Given the description of an element on the screen output the (x, y) to click on. 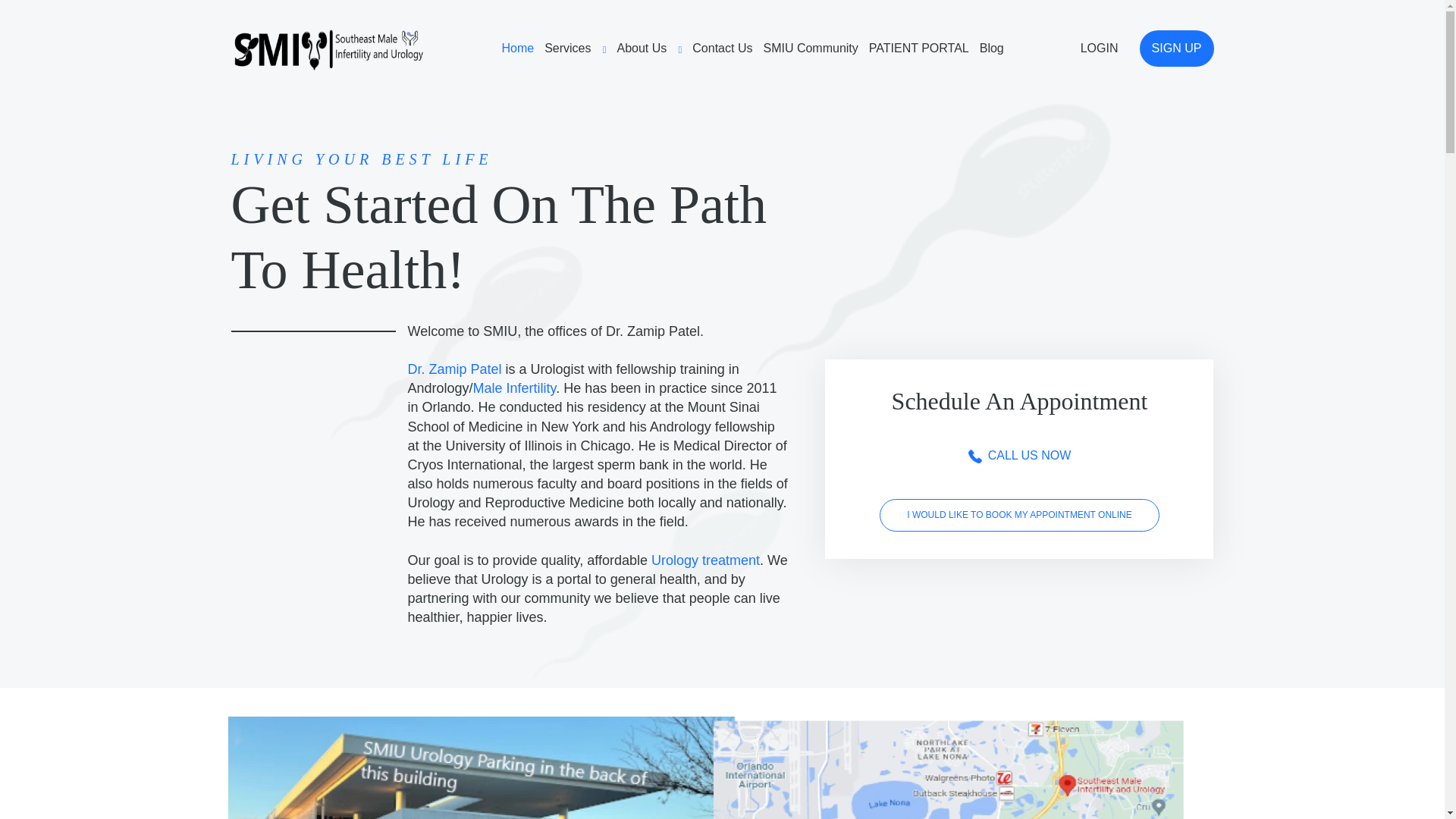
Services (574, 47)
SMIU Community (809, 47)
Urology treatment (705, 560)
LOGIN (1099, 48)
I WOULD LIKE TO BOOK MY APPOINTMENT ONLINE (1018, 514)
Contact Us (722, 47)
Dr. Zamip Patel (454, 368)
PATIENT PORTAL (919, 47)
CALL US NOW (1019, 455)
Home (517, 47)
Male Infertility (514, 387)
SIGN UP (1175, 48)
About Us (649, 47)
Blog (991, 47)
